Given the description of an element on the screen output the (x, y) to click on. 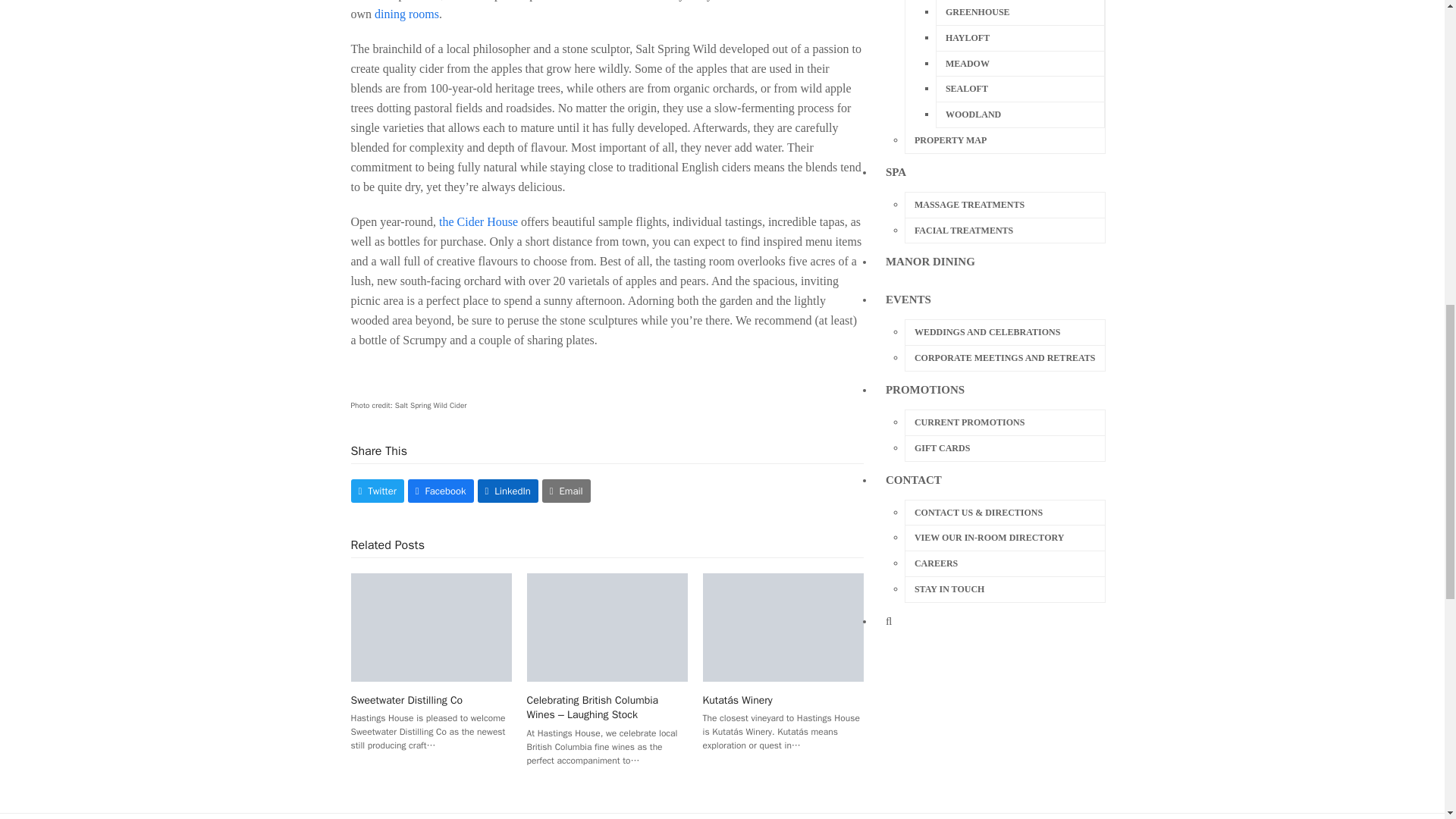
MEADOW (1019, 63)
Sweetwater Distilling Co (430, 626)
HAYLOFT (1019, 38)
GREENHOUSE (1019, 12)
